Given the description of an element on the screen output the (x, y) to click on. 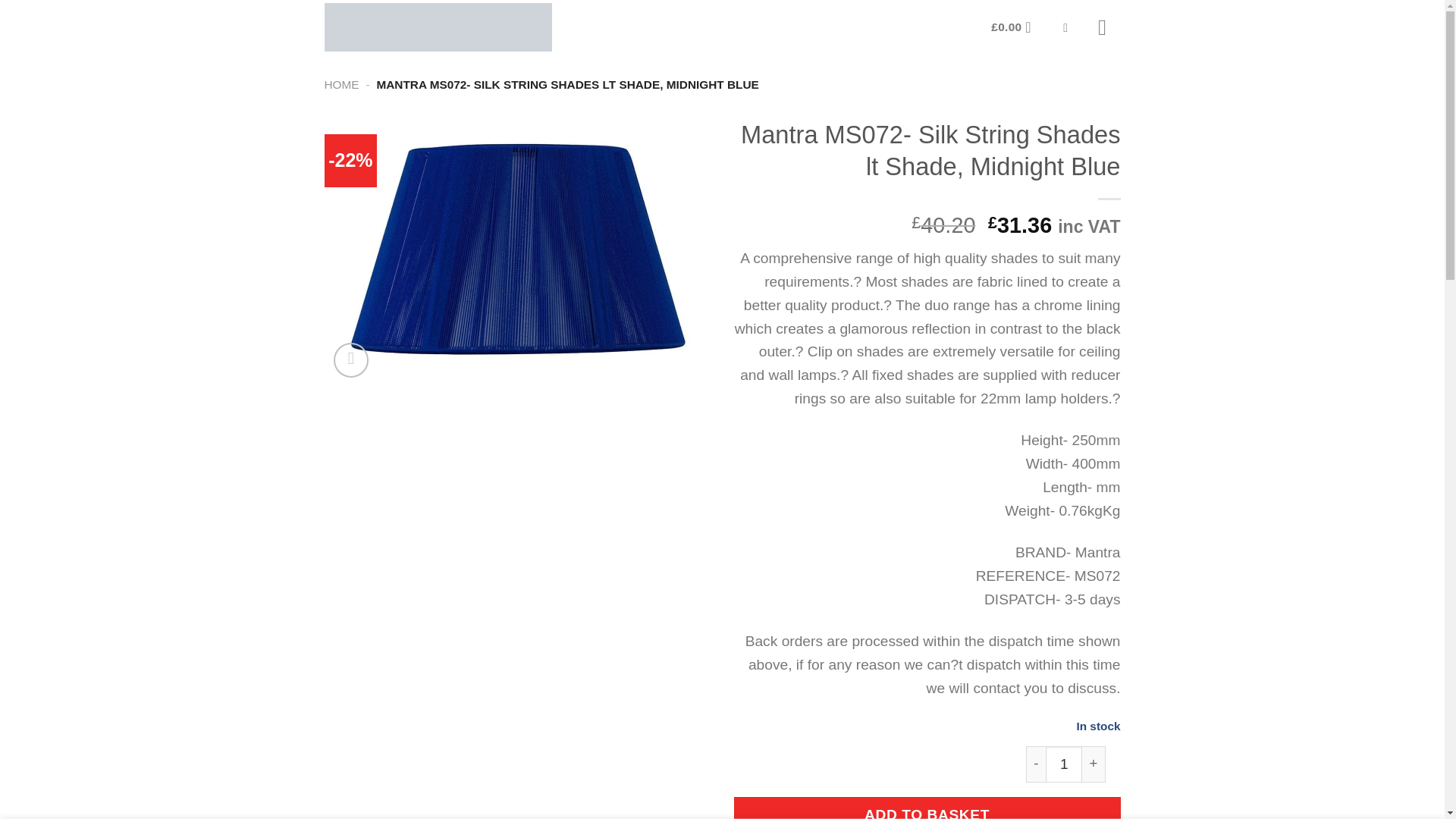
1 (1063, 764)
Zoom (351, 360)
HOME (341, 83)
ADD TO BASKET (927, 807)
Mantra MS072- Silk String Shades lt Shade, Midnight Blue (517, 247)
Basket (1016, 27)
